Given the description of an element on the screen output the (x, y) to click on. 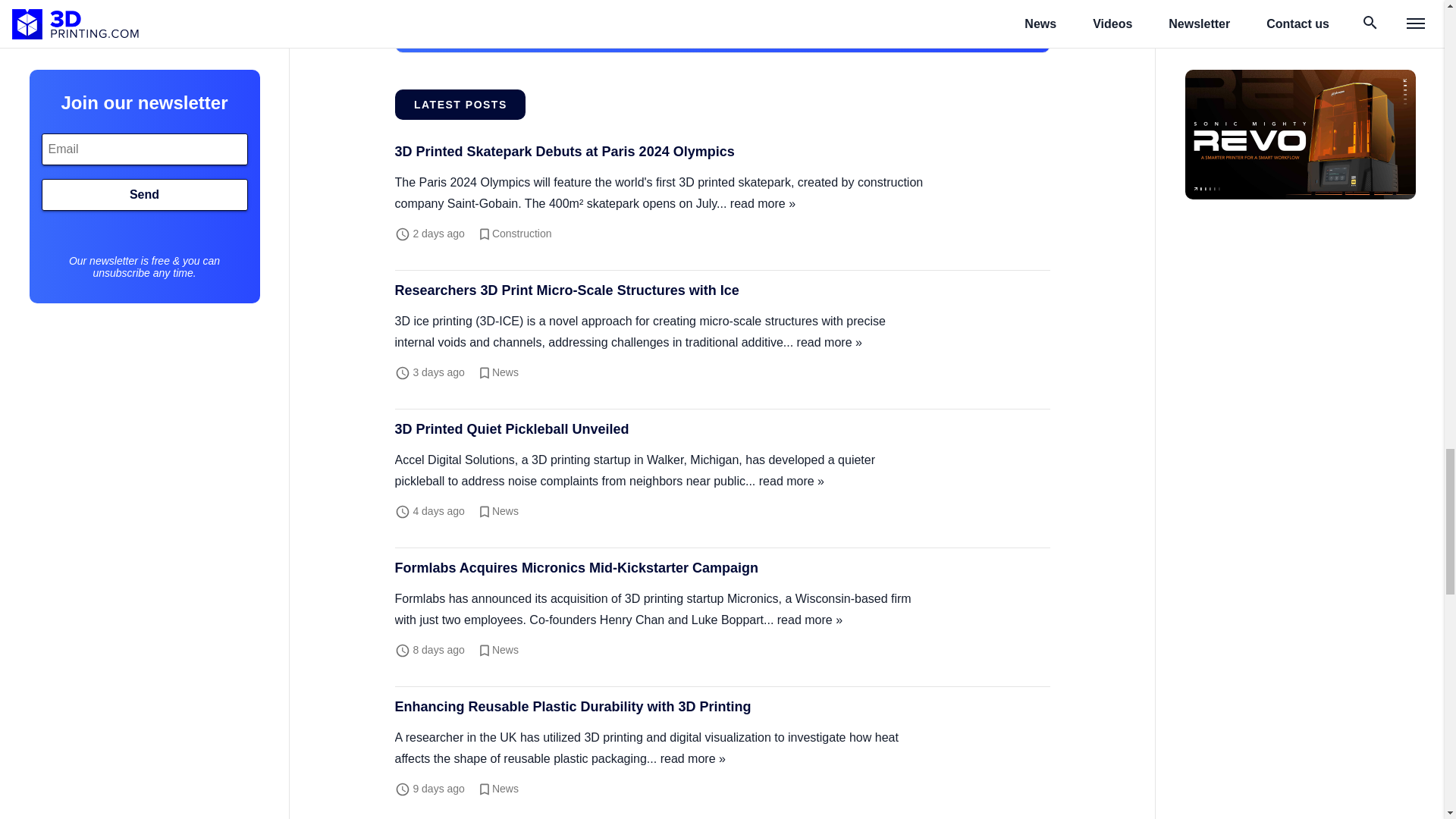
1721212624 (438, 510)
1720857623 (438, 649)
1721383258 (438, 233)
1720804362 (438, 788)
1721296845 (438, 372)
